Given the description of an element on the screen output the (x, y) to click on. 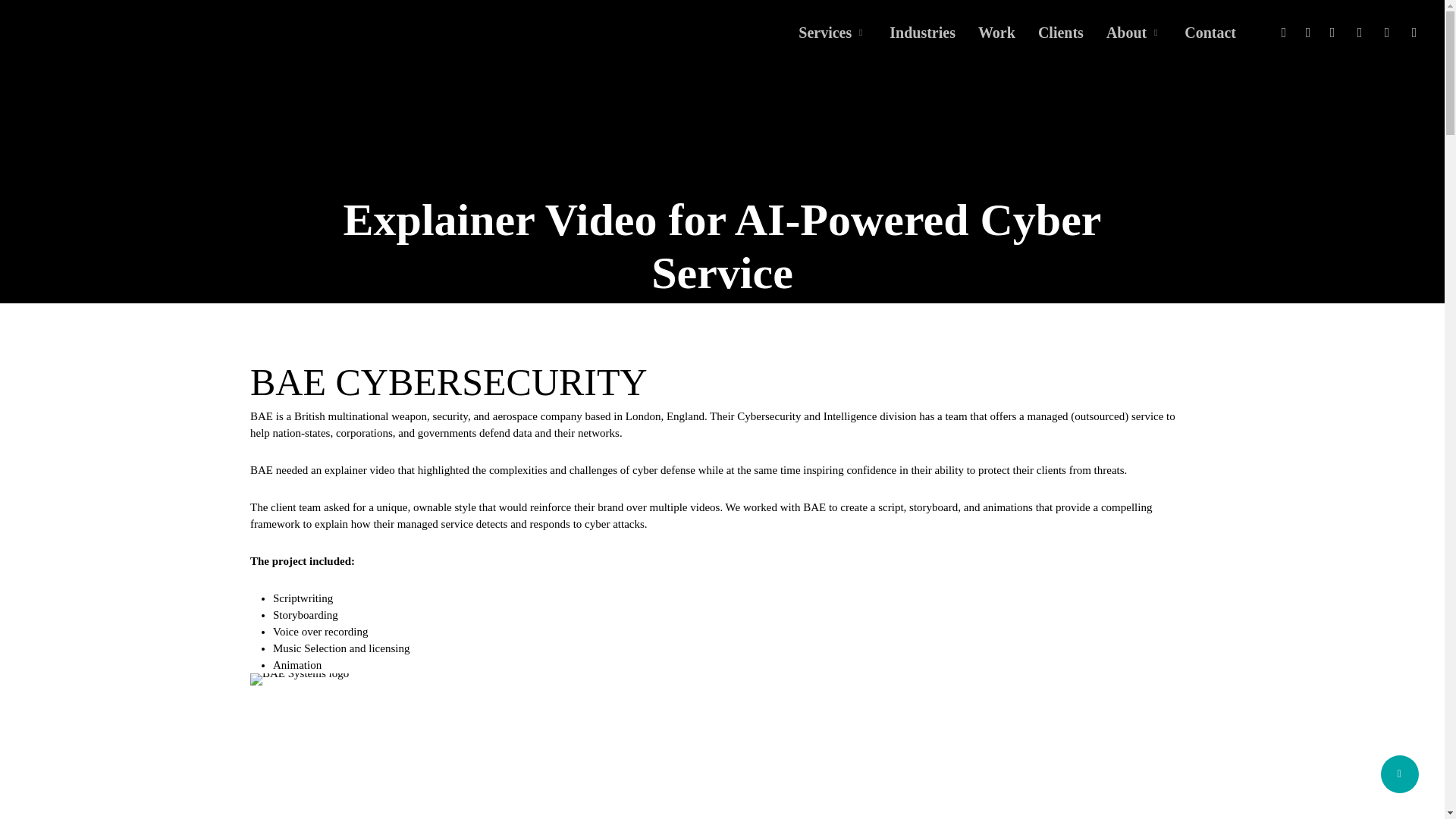
Work (996, 32)
Clients (1060, 32)
Contact (1210, 32)
Industries (922, 32)
About (1133, 32)
Services (831, 32)
